Given the description of an element on the screen output the (x, y) to click on. 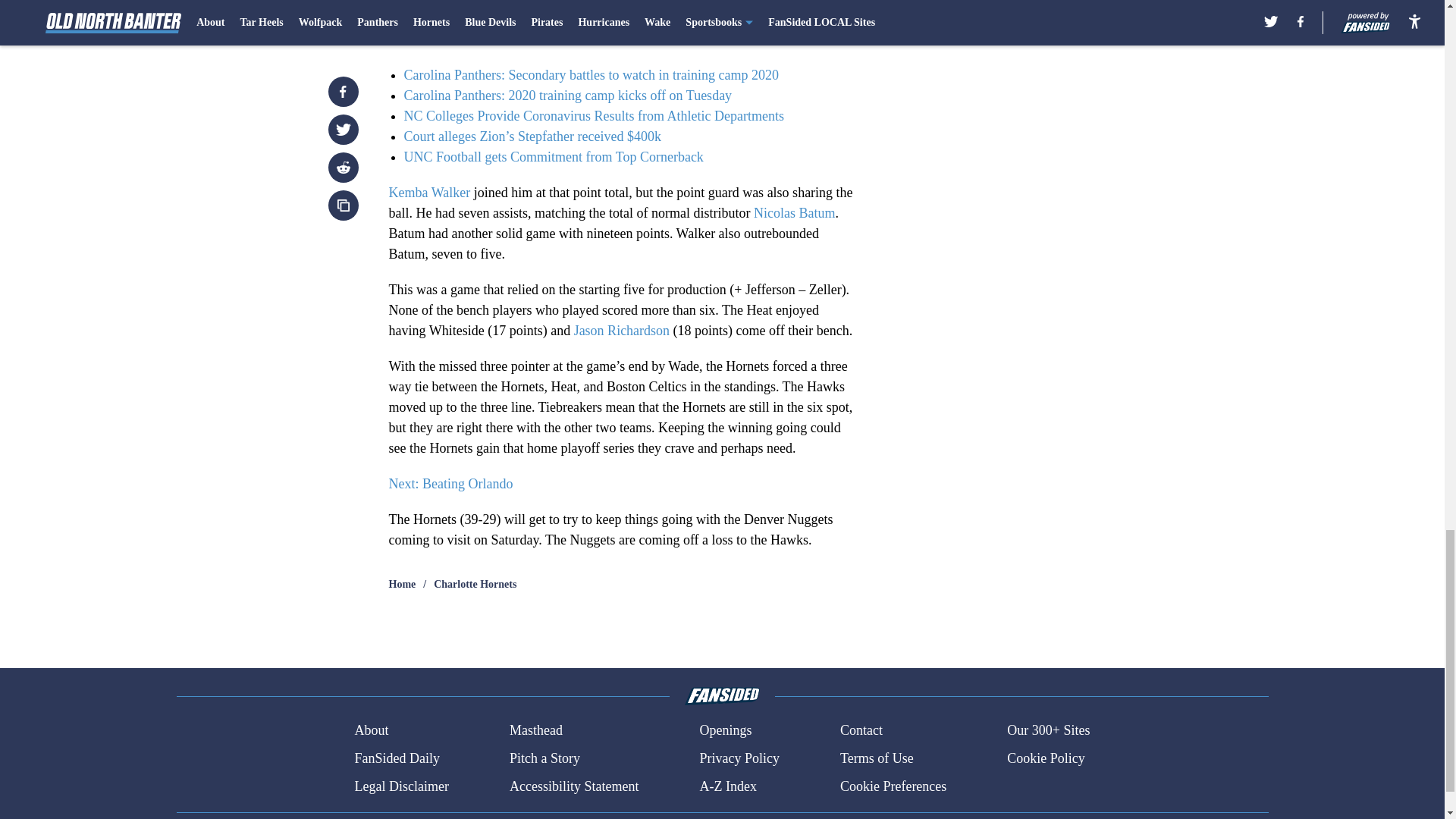
Carolina Panthers: 2020 training camp kicks off on Tuesday (567, 95)
